Given the description of an element on the screen output the (x, y) to click on. 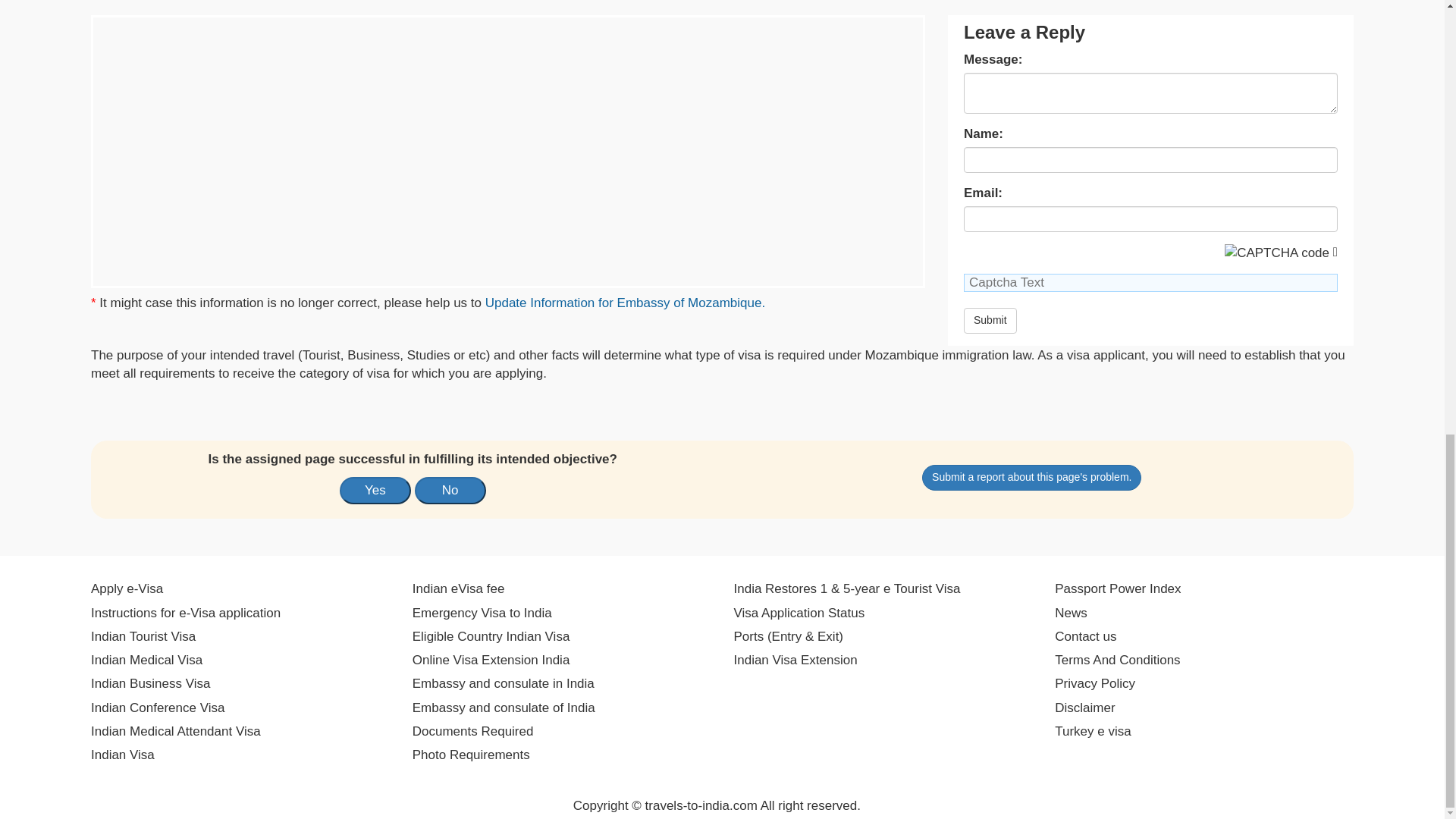
Apply e-Visa (126, 588)
Embassy and consulate in India (503, 683)
Indian Tourist Visa (142, 637)
Submit (989, 320)
Indian eVisa fee (458, 588)
Indian Medical Visa (146, 660)
Indian Conference Visa (157, 708)
Indian Business Visa (150, 683)
Update Information (624, 302)
Online Visa Extension India (491, 660)
